Given the description of an element on the screen output the (x, y) to click on. 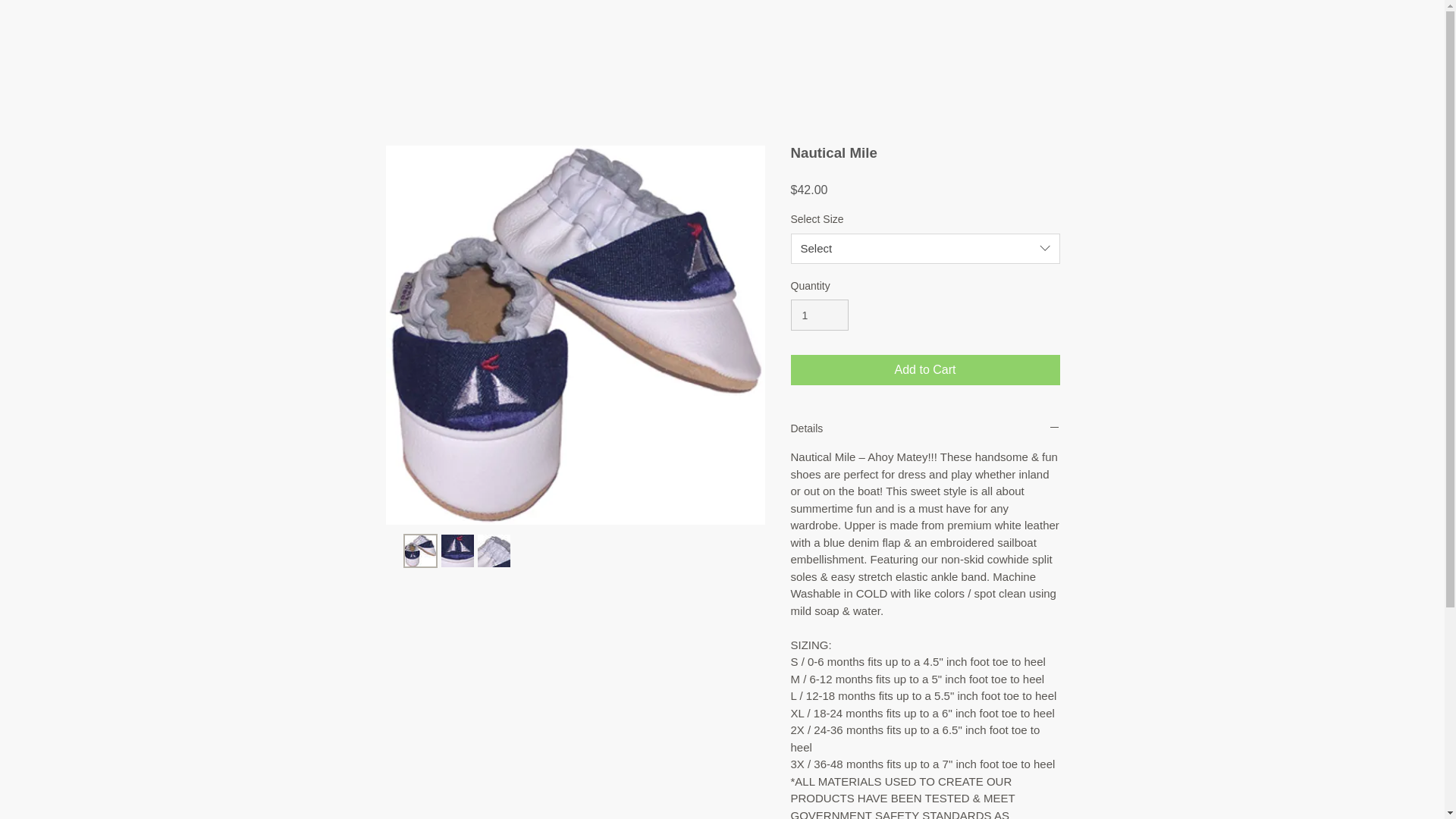
Select (924, 248)
Details (924, 428)
Add to Cart (924, 369)
1 (818, 314)
